Given the description of an element on the screen output the (x, y) to click on. 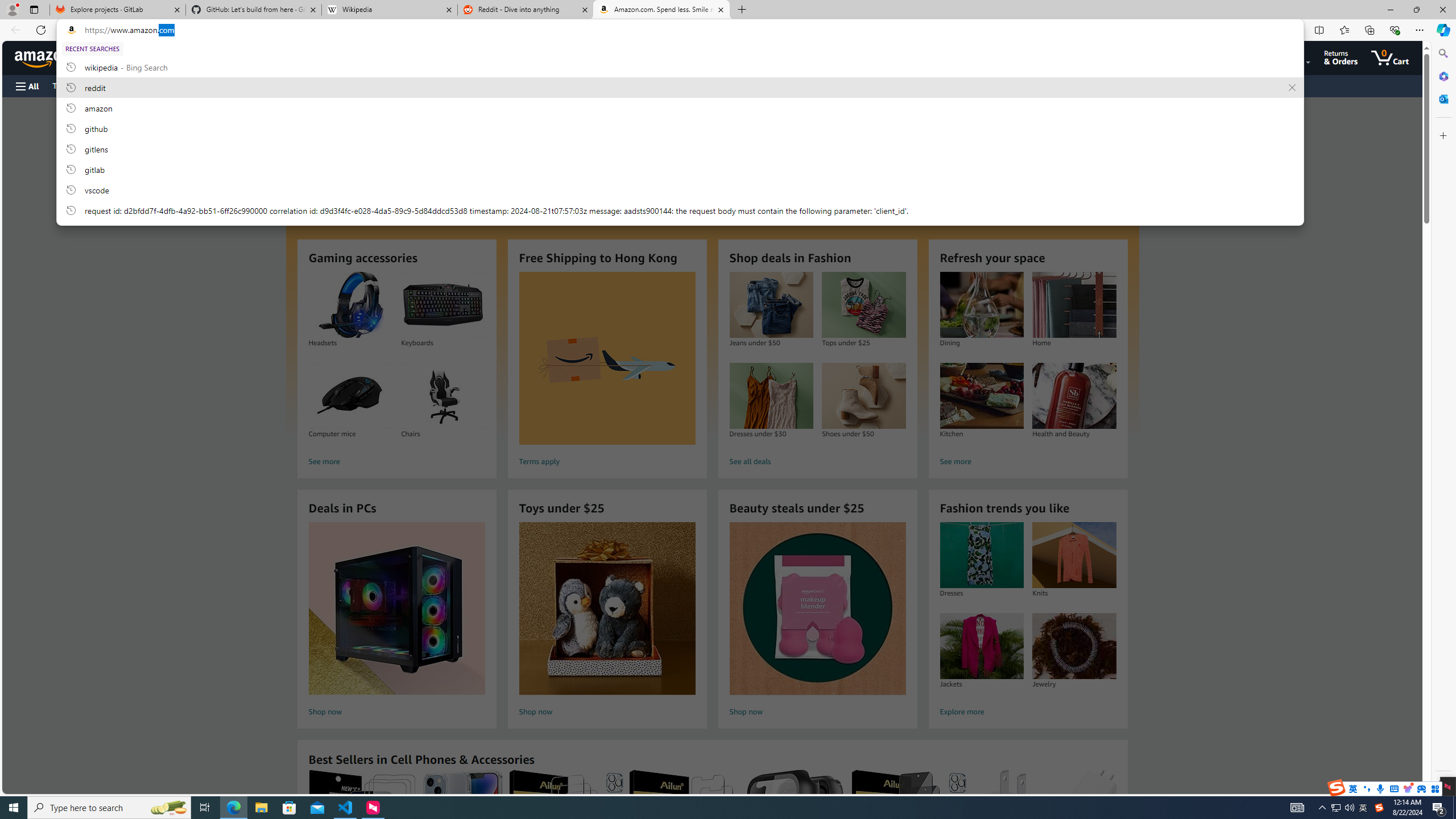
Remove suggestion (1291, 87)
amazon, recent searches from history (679, 107)
Refresh (40, 29)
vscode, recent searches from history (679, 189)
Computer mice (350, 395)
Address and search bar (688, 29)
Browser essentials (1394, 29)
Health and Beauty (1074, 395)
gitlab, recent searches from history (679, 168)
Kitchen (981, 395)
Skip to main content (48, 56)
Tops under $25 (863, 304)
